Given the description of an element on the screen output the (x, y) to click on. 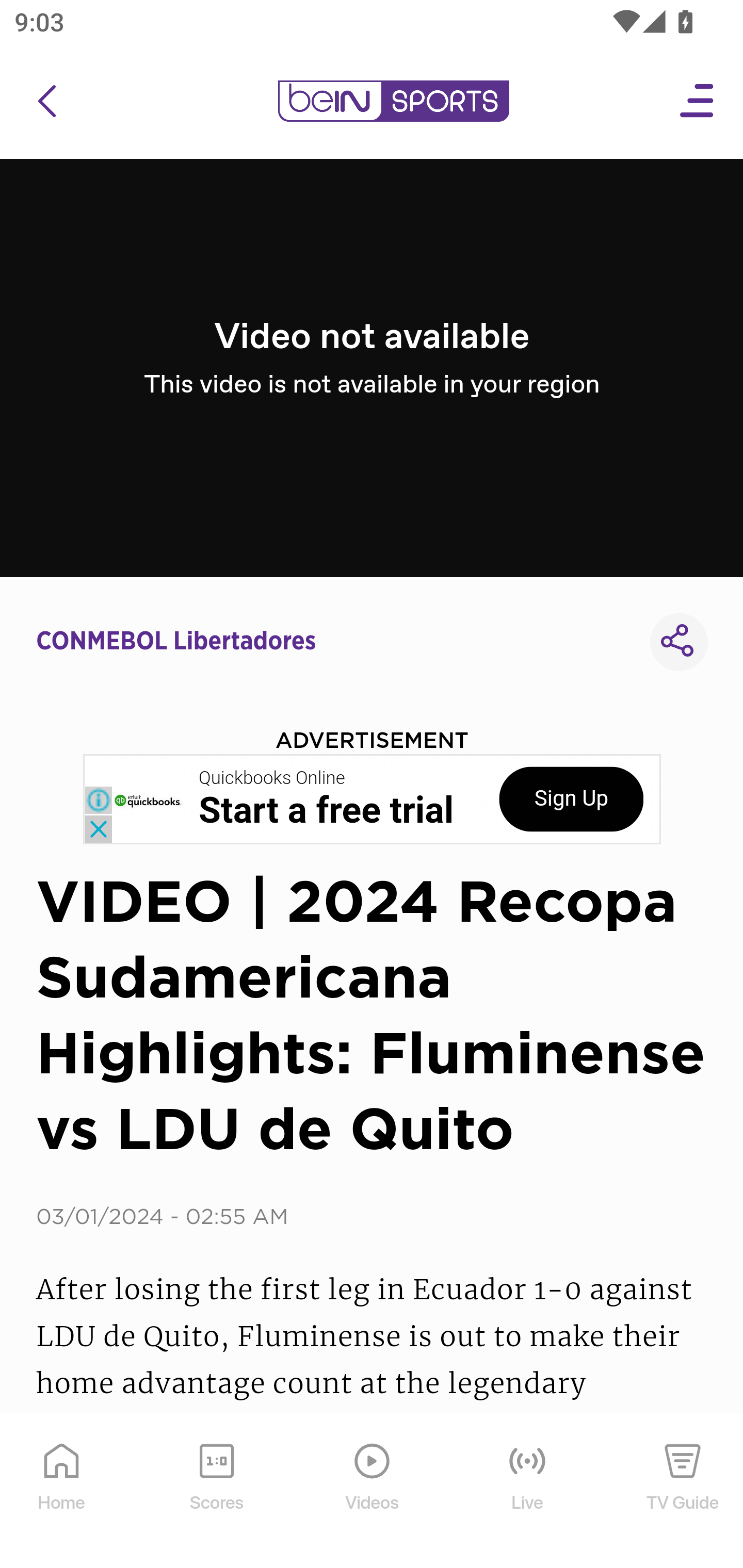
en-us?platform=mobile_android bein logo (392, 101)
icon back (46, 101)
Open Menu Icon (697, 101)
Quickbooks Online (272, 778)
Sign Up (571, 799)
Start a free trial (326, 810)
Home Home Icon Home (61, 1491)
Scores Scores Icon Scores (216, 1491)
Videos Videos Icon Videos (372, 1491)
TV Guide TV Guide Icon TV Guide (682, 1491)
